Given the description of an element on the screen output the (x, y) to click on. 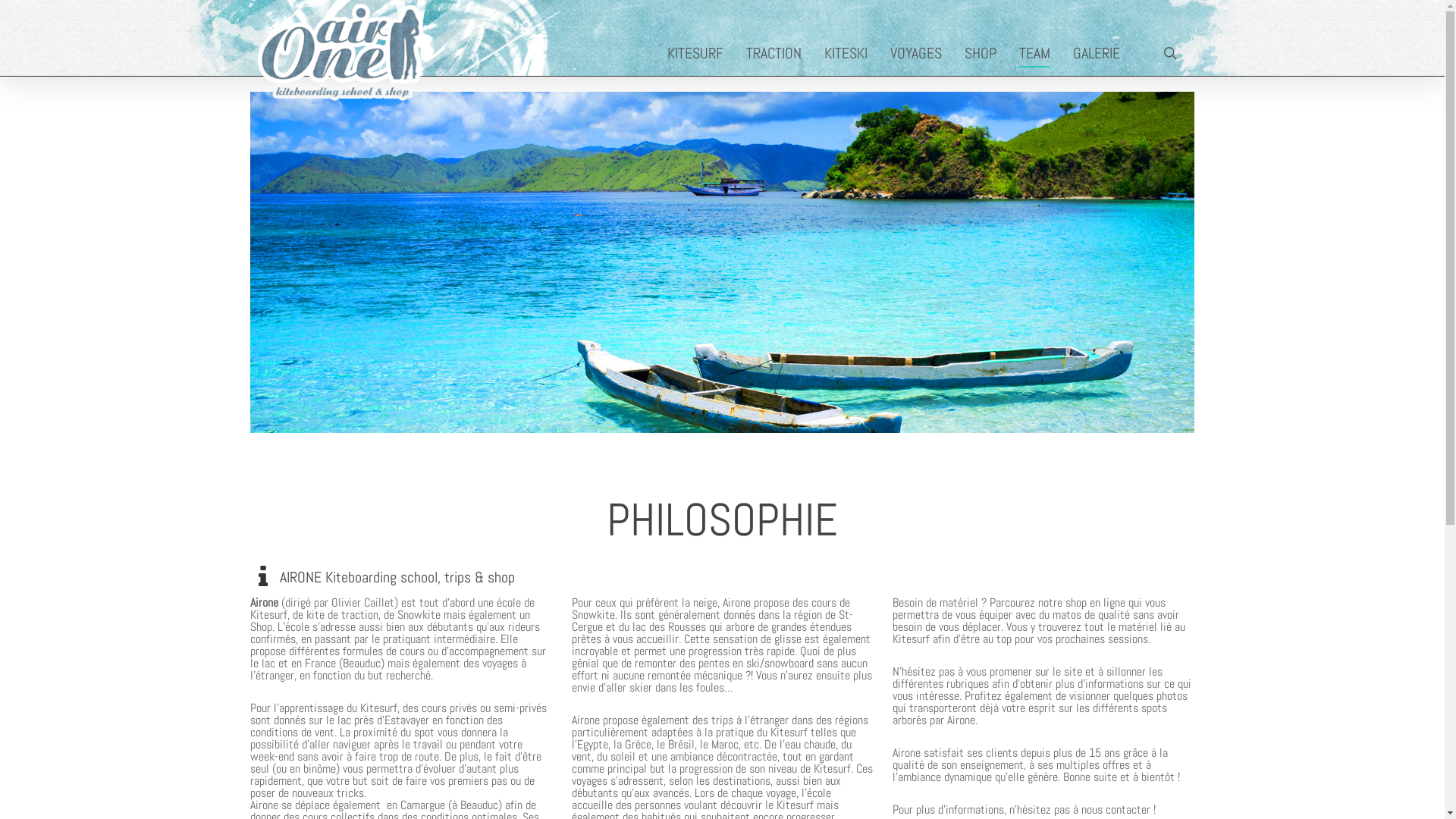
0 Element type: text (1195, 60)
search Element type: text (1170, 52)
GALERIE Element type: text (1100, 52)
TEAM Element type: text (1038, 52)
VOYAGES Element type: text (919, 52)
SHOP Element type: text (984, 52)
KITESKI Element type: text (849, 52)
TRACTION Element type: text (777, 52)
KITESURF Element type: text (699, 52)
